Given the description of an element on the screen output the (x, y) to click on. 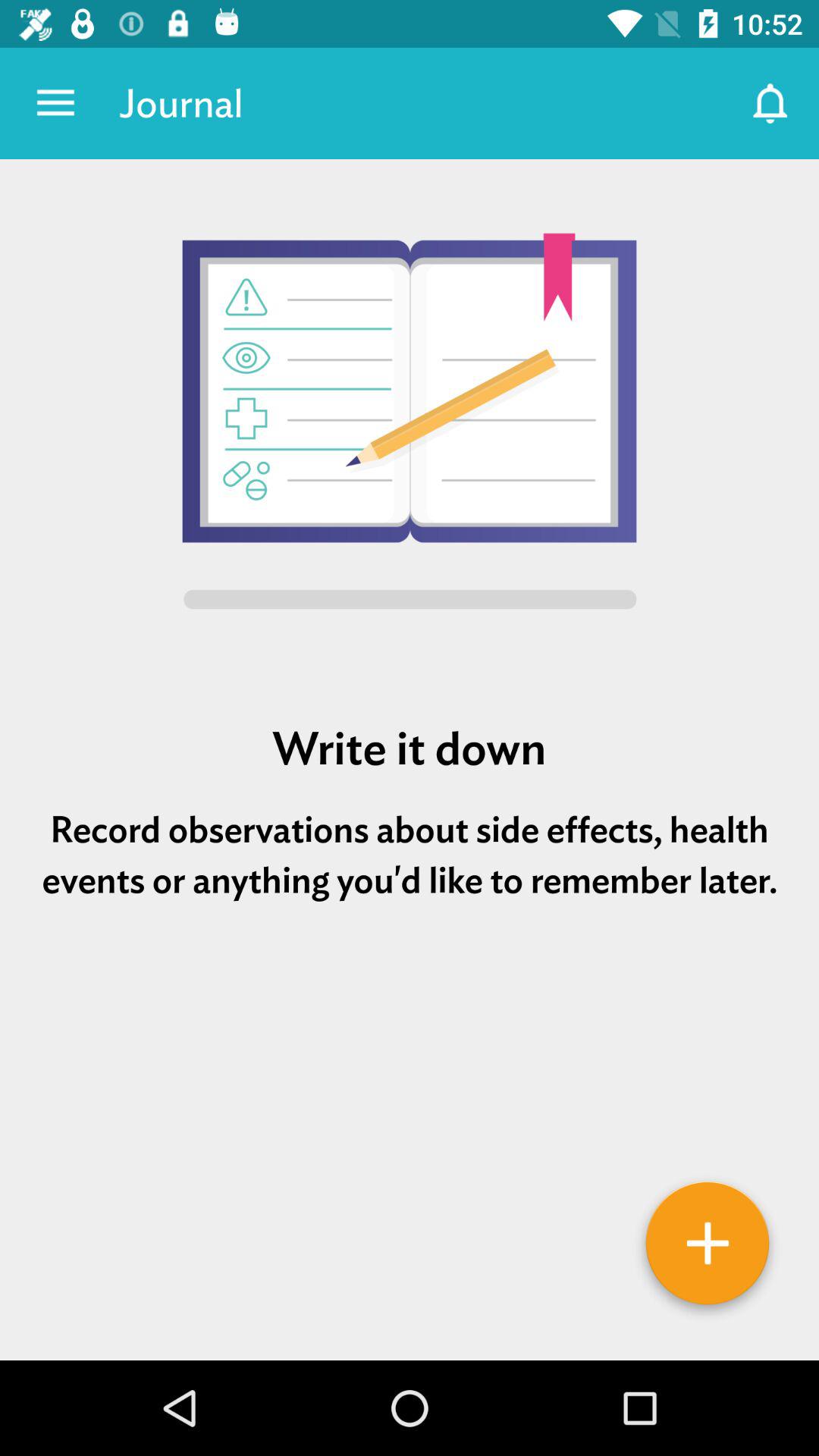
choose icon next to journal (55, 103)
